Given the description of an element on the screen output the (x, y) to click on. 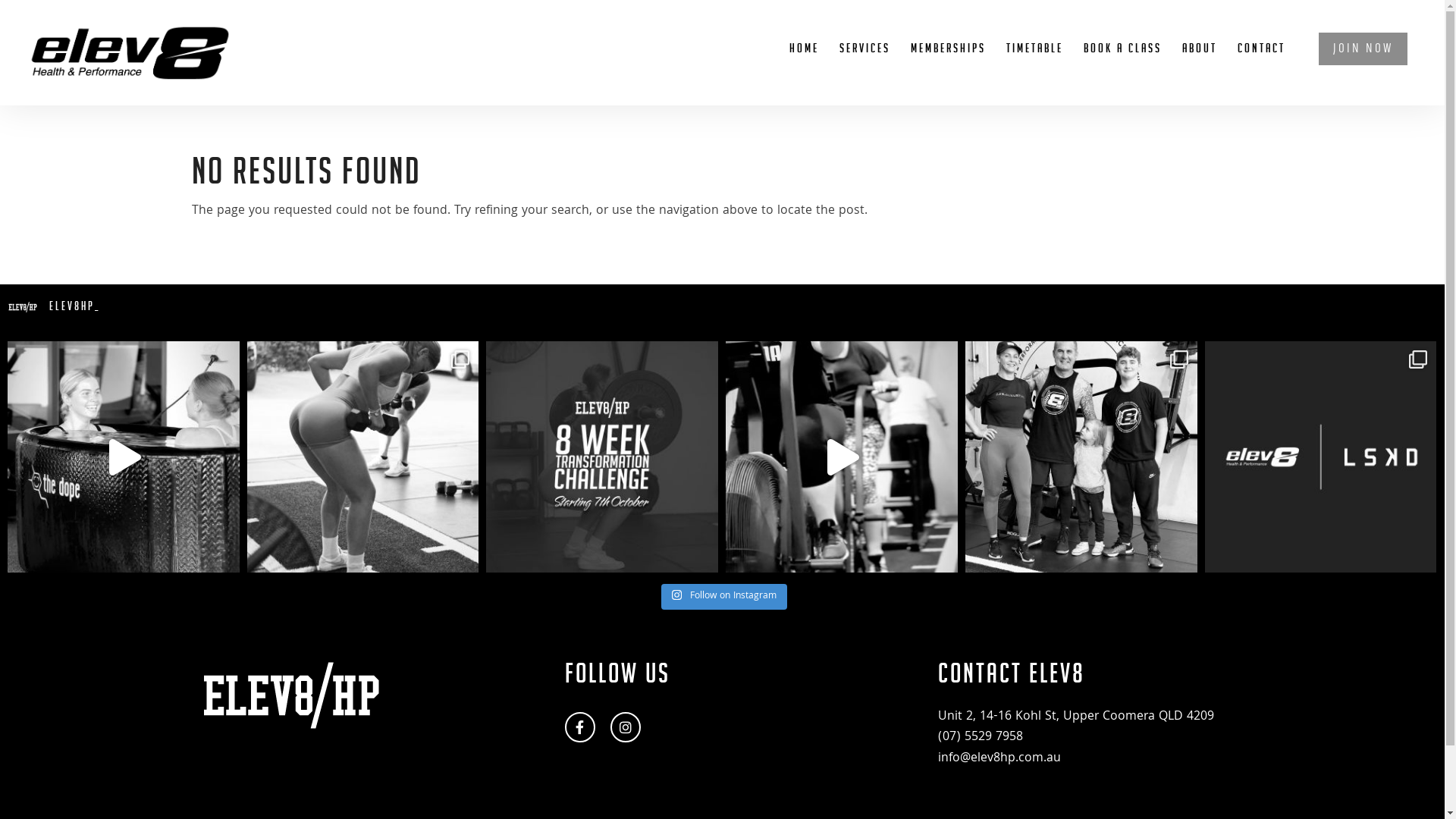
SERVICES Element type: text (864, 61)
TIMETABLE Element type: text (1034, 61)
HOME Element type: text (804, 61)
ABOUT Element type: text (1199, 61)
info@elev8hp.com.au Element type: text (999, 758)
(07) 5529 7958 Element type: text (980, 737)
Join us on Instagram Element type: hover (625, 727)
JOIN NOW Element type: text (1362, 64)
Follow on Instagram Element type: text (724, 596)
CONTACT Element type: text (1261, 61)
elev8HP-logo-new-footer-260px Element type: hover (290, 694)
BOOK A CLASS Element type: text (1122, 61)
MEMBERSHIPS Element type: text (947, 61)
Join us on Facebook Element type: hover (579, 727)
ELEV8HP_ Element type: text (721, 307)
Unit 2, 14-16 Kohl St, Upper Coomera QLD 4209 Element type: text (1076, 716)
